Given the description of an element on the screen output the (x, y) to click on. 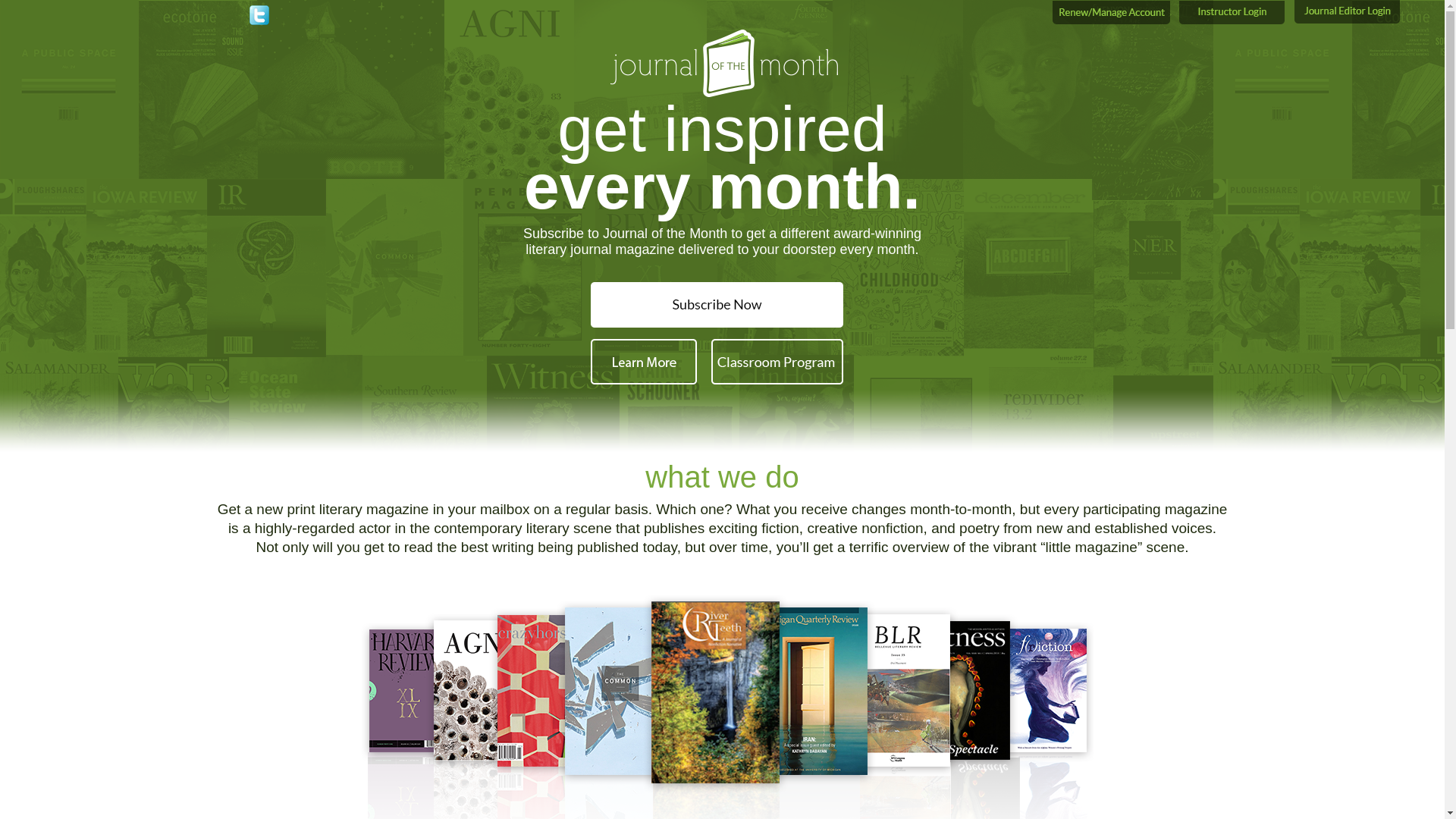
Teacher Login (1234, 12)
Editor Login (1350, 12)
Subscribe (722, 300)
